Given the description of an element on the screen output the (x, y) to click on. 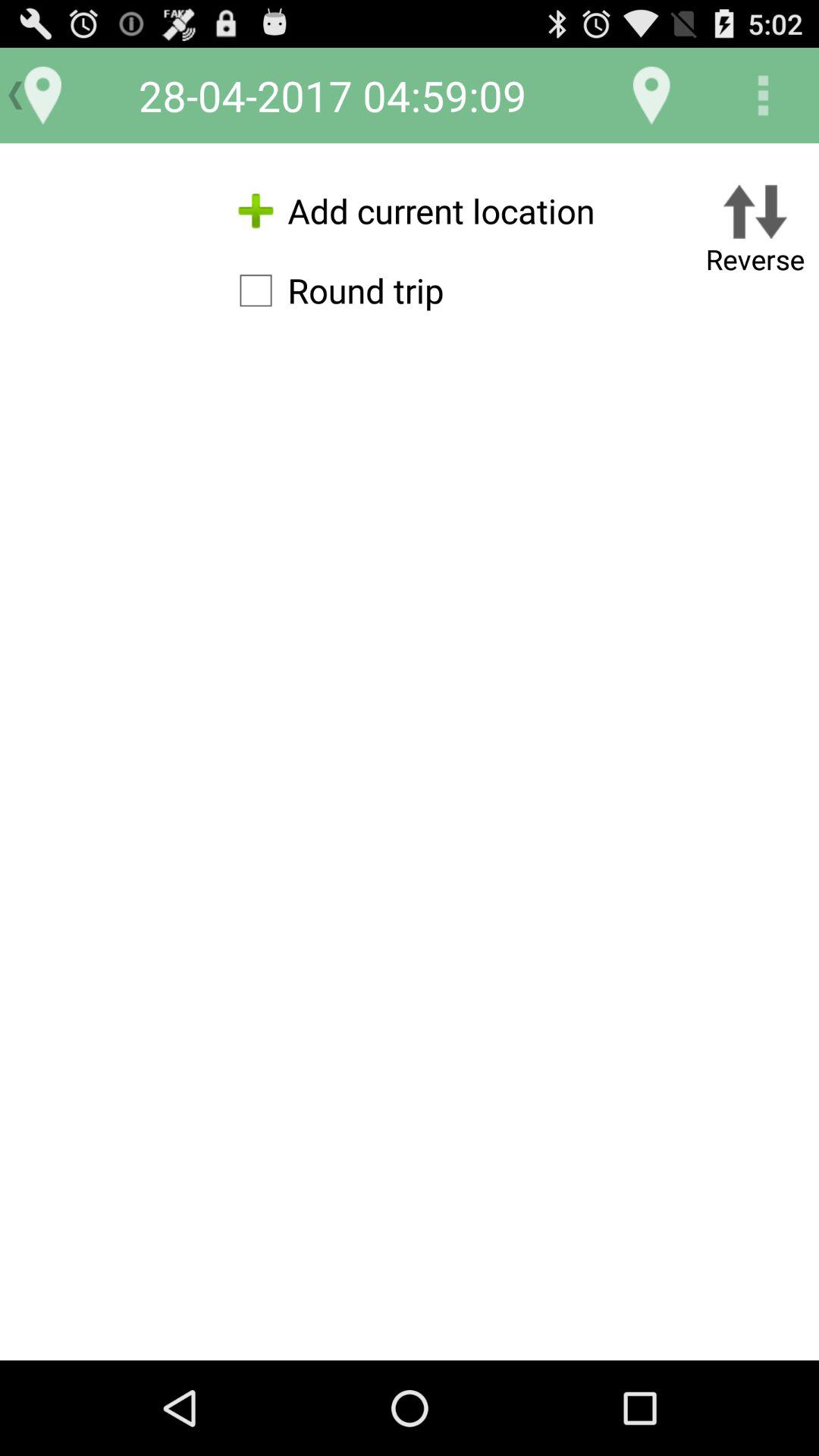
select the item above the add current location (651, 95)
